Given the description of an element on the screen output the (x, y) to click on. 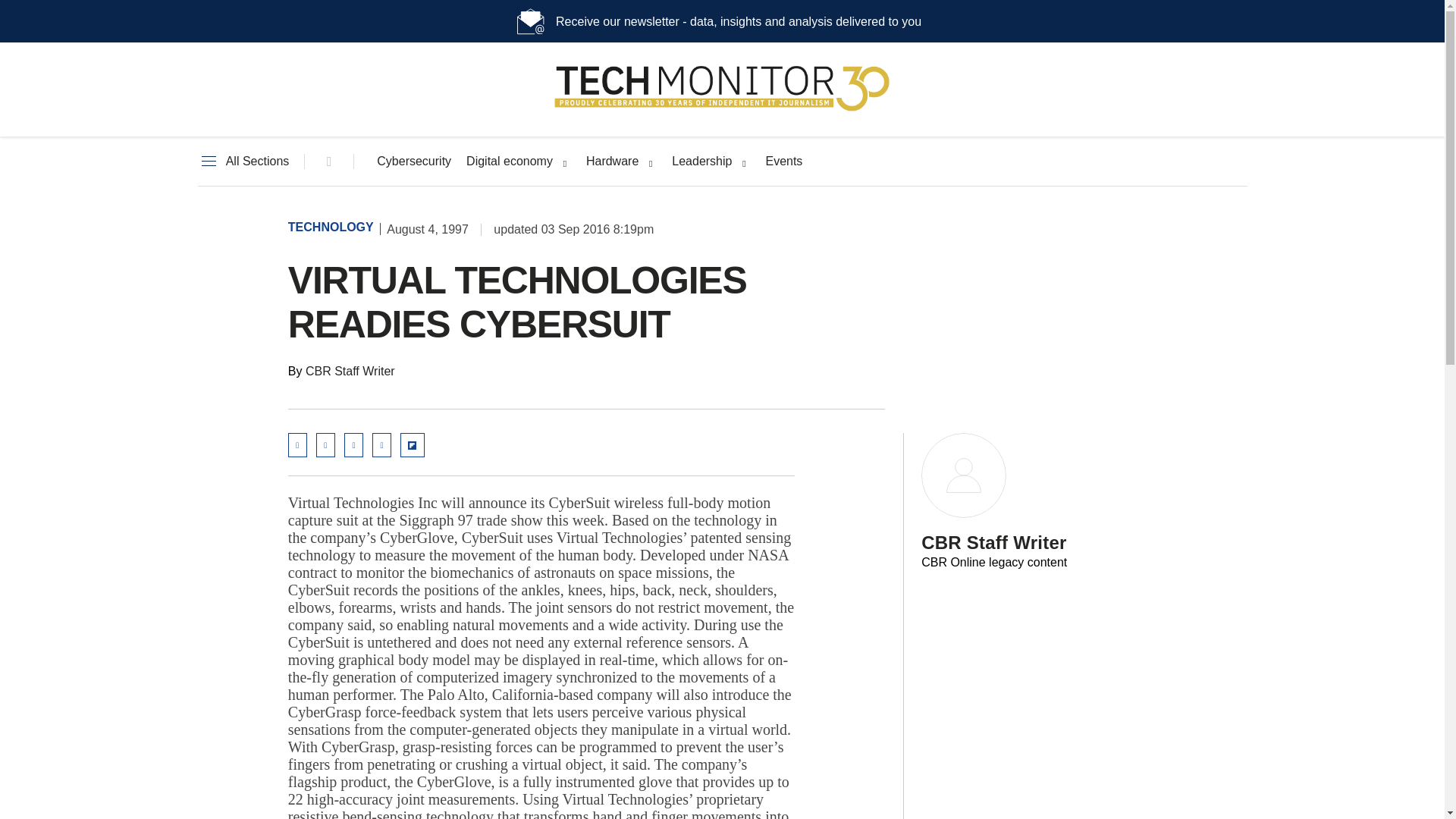
All Sections (242, 161)
Digital economy (509, 161)
Share on Flipboard (412, 445)
Cybersecurity (414, 161)
3rd party ad content (1016, 312)
Tech Monitor (722, 110)
Hardware (612, 161)
Events (783, 161)
Leadership (701, 161)
